Given the description of an element on the screen output the (x, y) to click on. 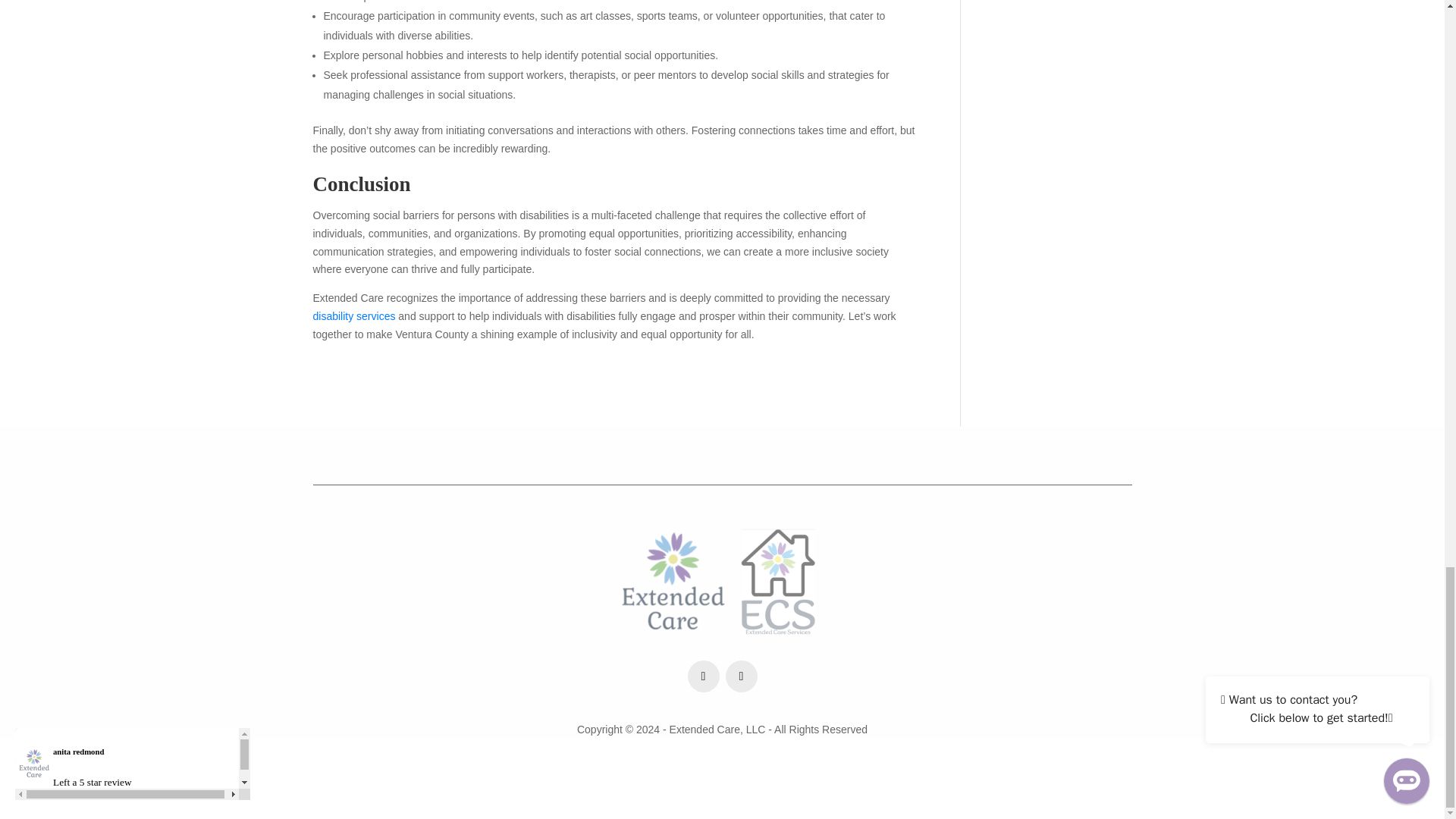
disability services (353, 316)
Untitled design - 2023-12-02T055446.737 (721, 581)
Follow on Facebook (703, 676)
Follow on Instagram (741, 676)
